Given the description of an element on the screen output the (x, y) to click on. 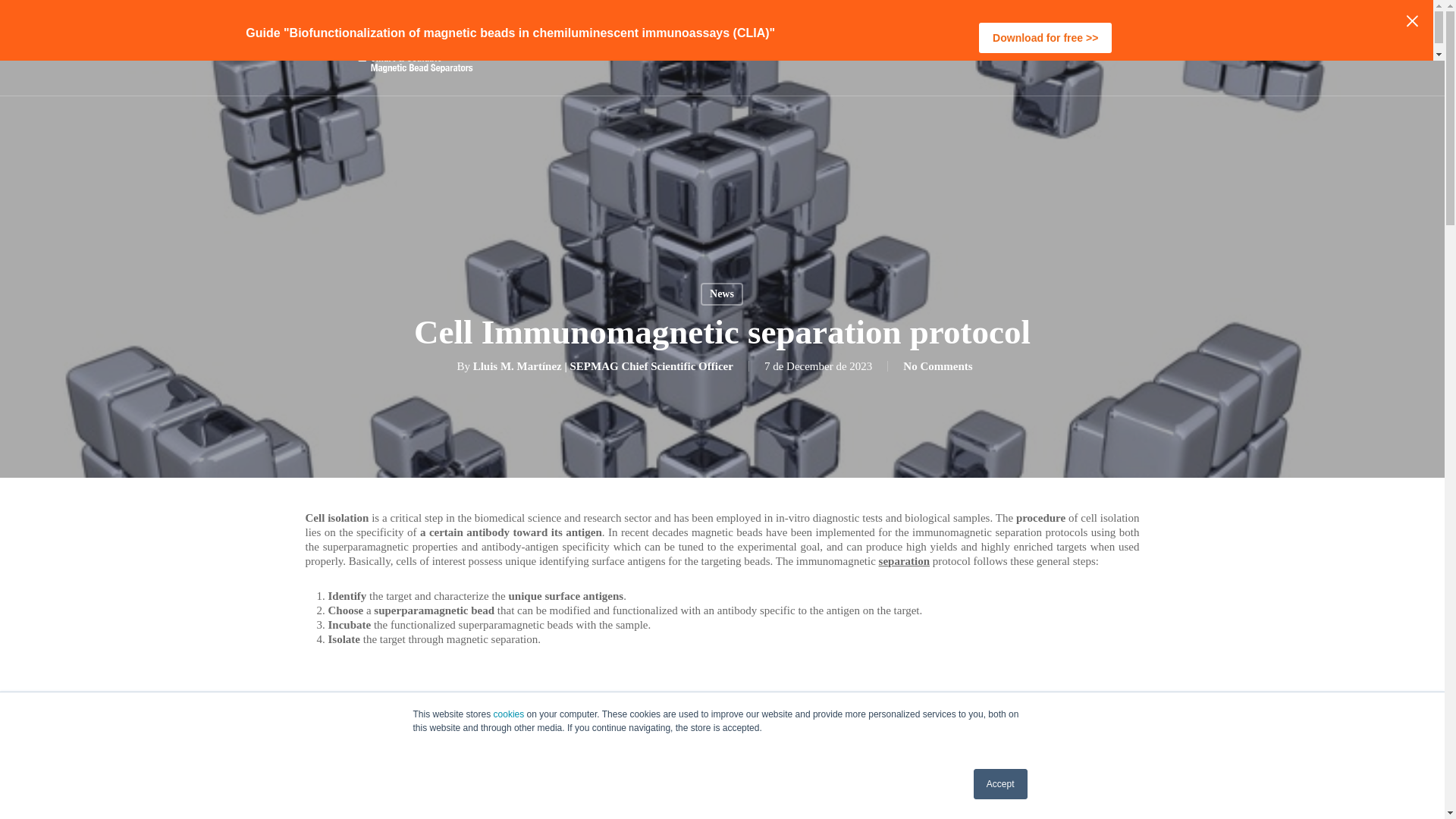
separation (904, 561)
Large Volumes (672, 47)
Small Volumes (761, 47)
Customized (842, 47)
eBooks (939, 47)
cookies (508, 714)
Blog (896, 47)
News (721, 293)
linkedin (1054, 47)
youtube (1080, 47)
search (1129, 47)
Contact (991, 47)
No Comments (937, 366)
Popup CTA (722, 30)
Accept (1000, 784)
